Given the description of an element on the screen output the (x, y) to click on. 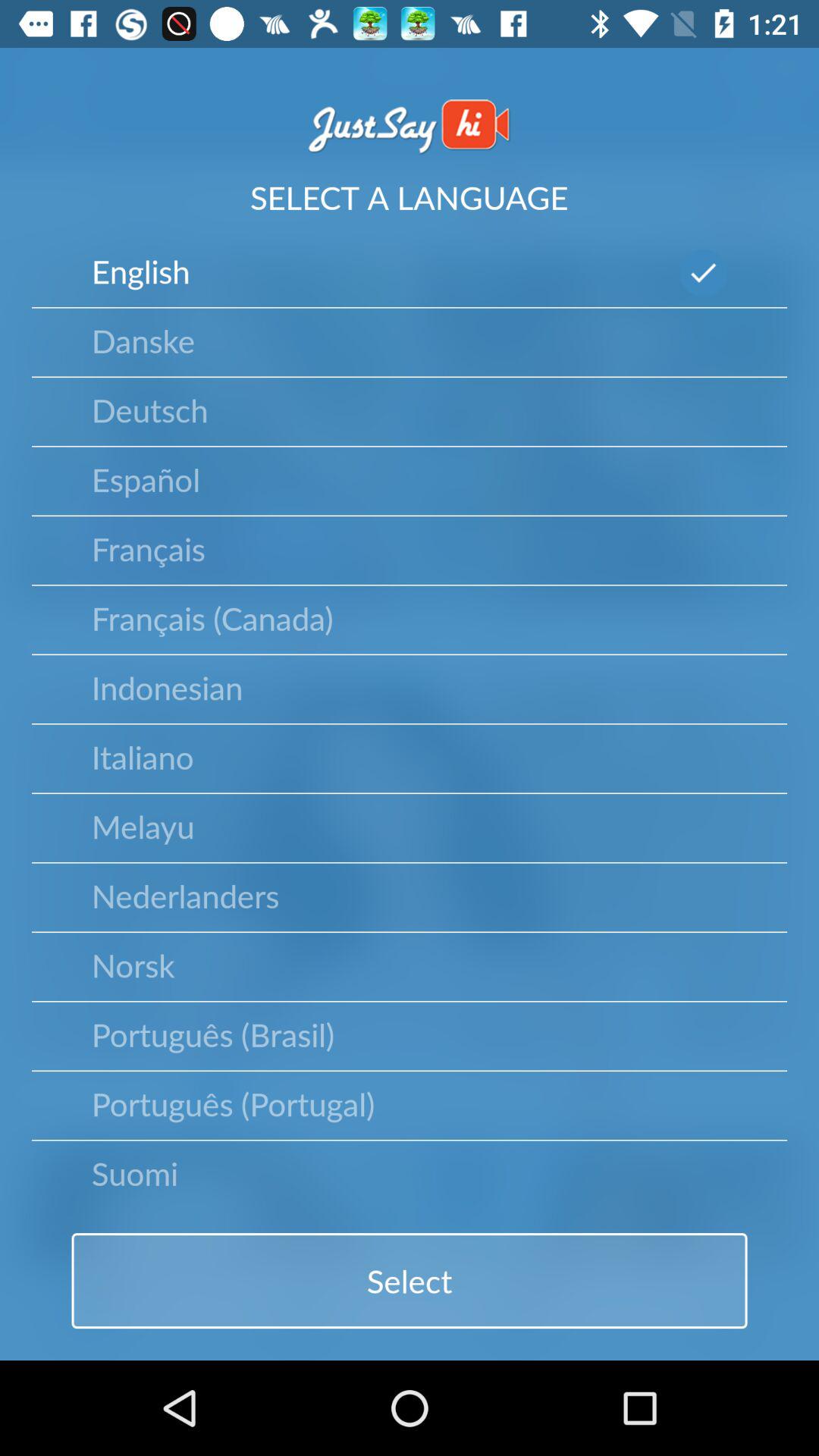
choose the icon below italiano item (142, 826)
